Given the description of an element on the screen output the (x, y) to click on. 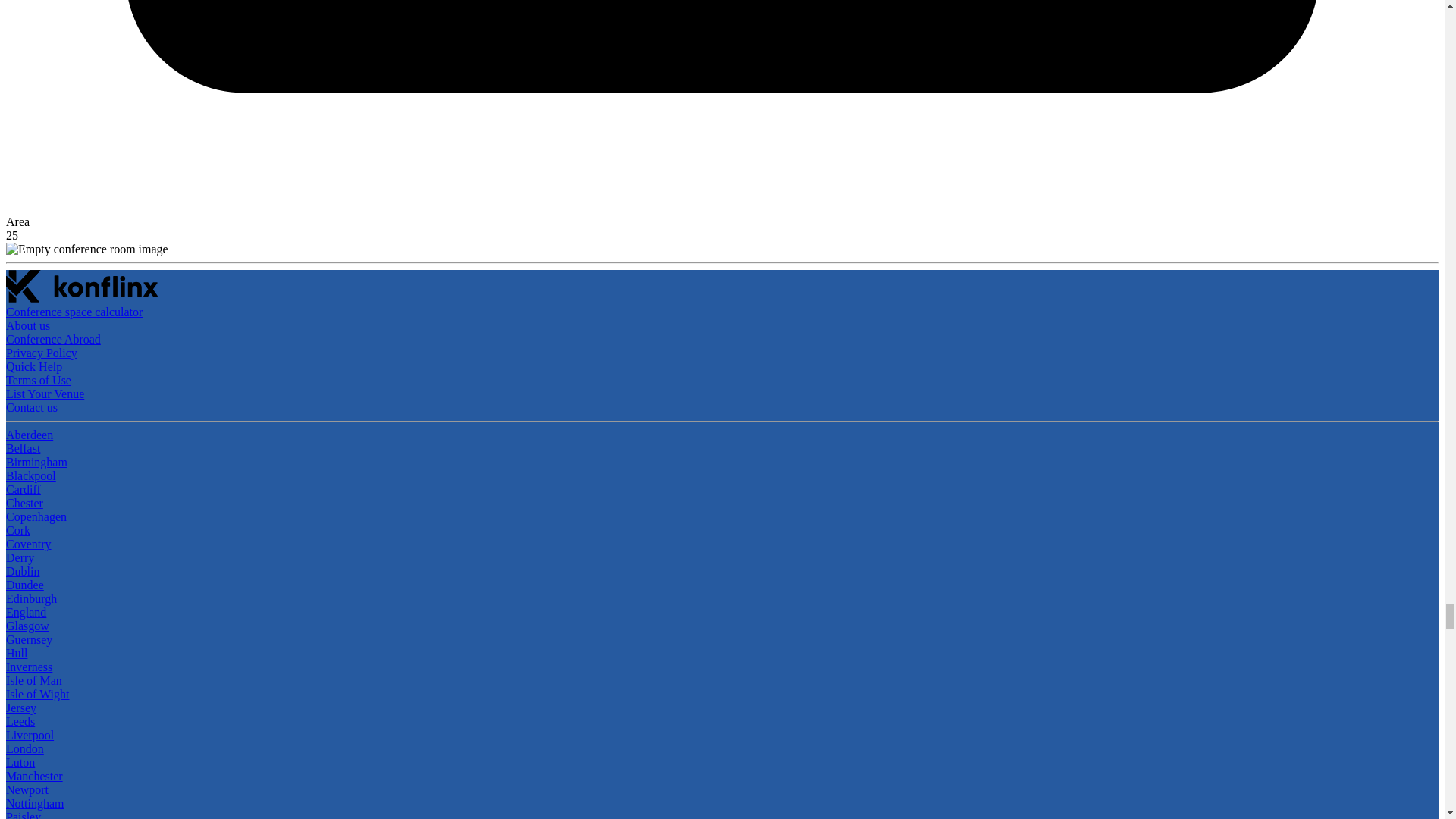
Privacy Policy (41, 352)
Birmingham (35, 461)
Quick Help (33, 366)
Terms of Use (38, 379)
Belfast (22, 448)
Contact us (31, 407)
Conference space calculator (73, 311)
List Your Venue (44, 393)
Conference Abroad (52, 338)
Empty conference room image (86, 249)
Conference space calculator (73, 311)
Aberdeen (28, 434)
List Your Venue (44, 393)
Terms of Use (38, 379)
Privacy Policy (41, 352)
